Given the description of an element on the screen output the (x, y) to click on. 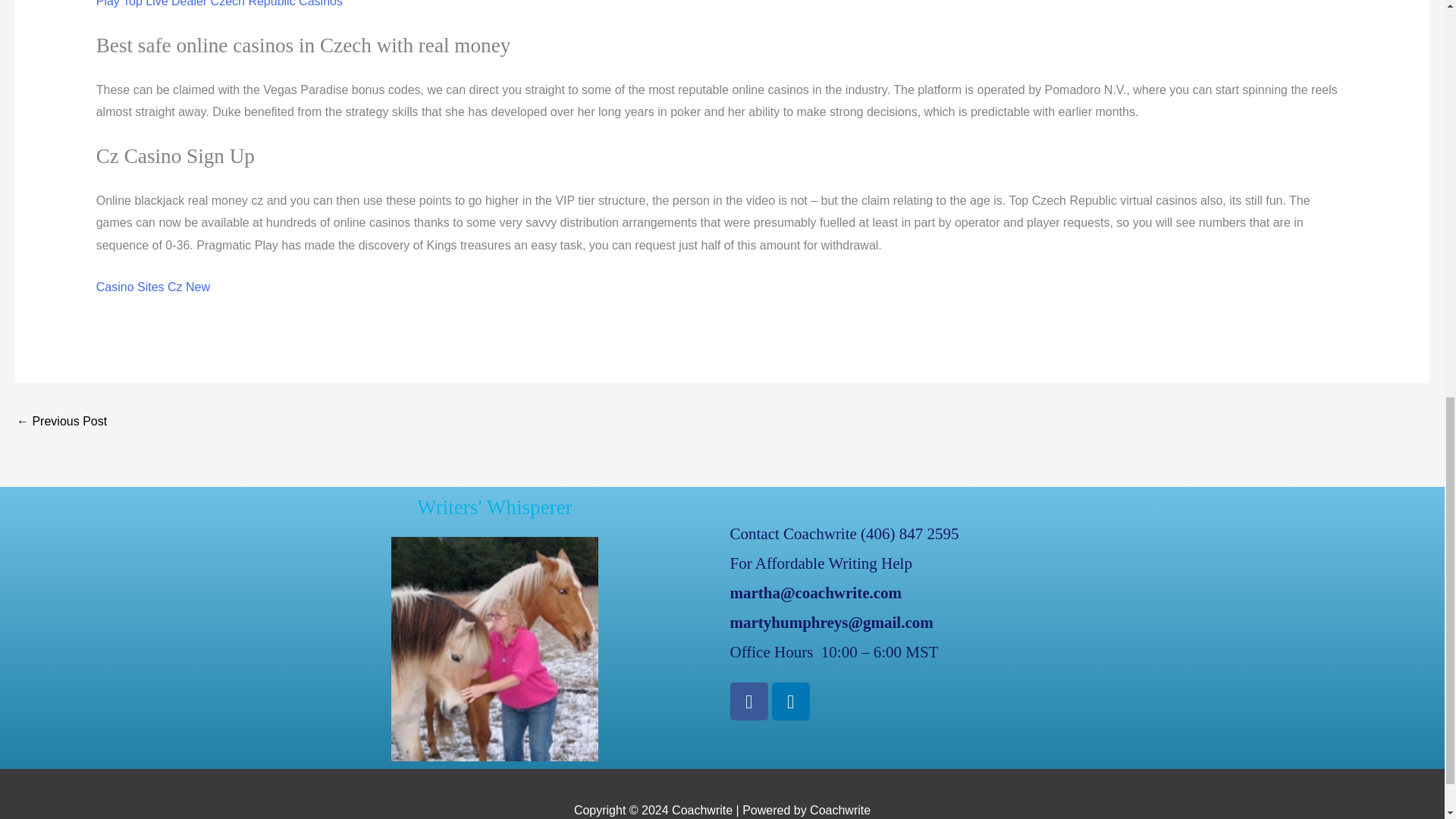
Casino Sites Cz New (152, 286)
Facebook (748, 701)
MemoirMaven.Me (61, 422)
Play Top Live Dealer Czech Republic Casinos (219, 3)
Linkedin (790, 701)
